Given the description of an element on the screen output the (x, y) to click on. 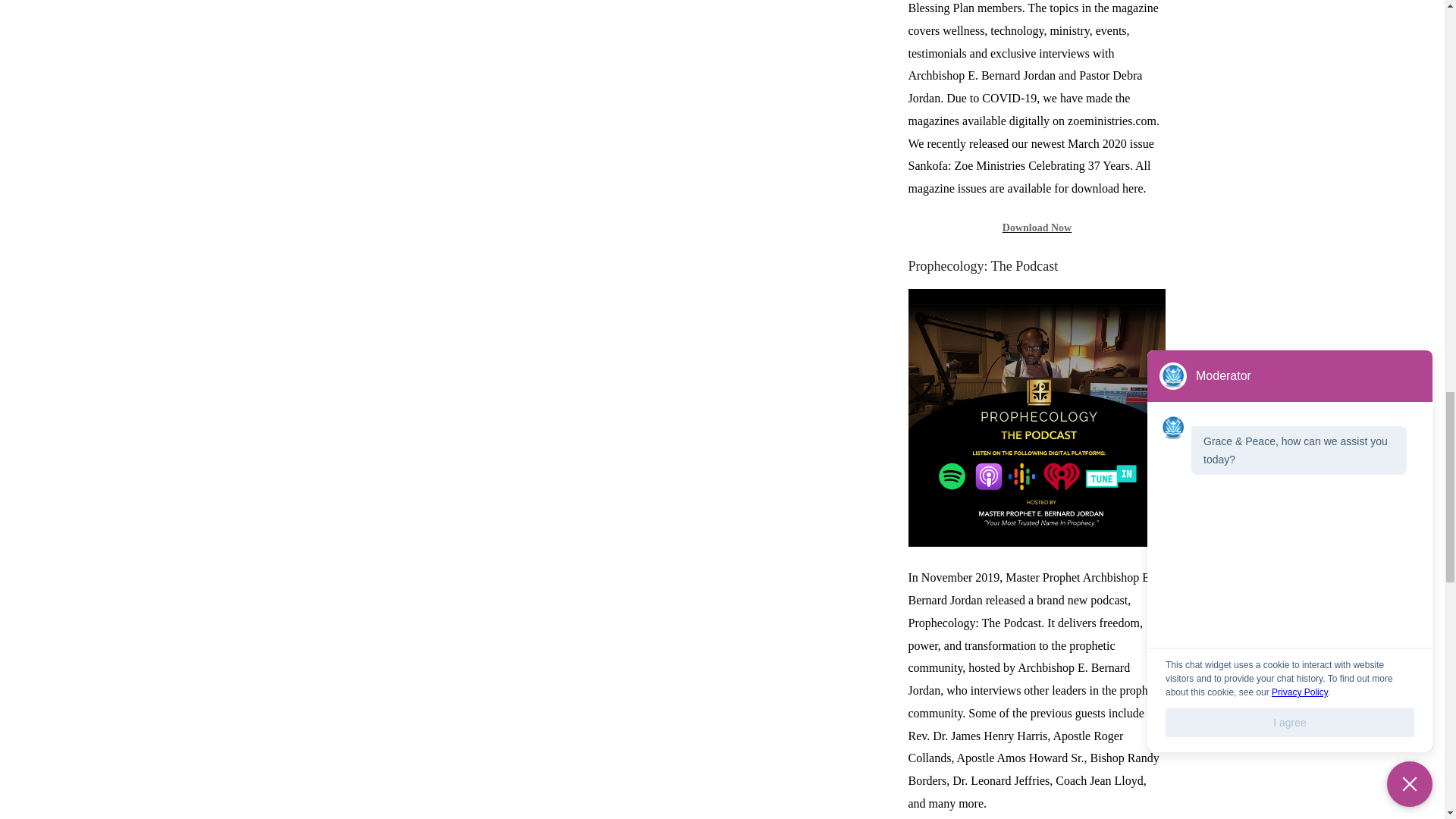
Download Now (1037, 227)
